Given the description of an element on the screen output the (x, y) to click on. 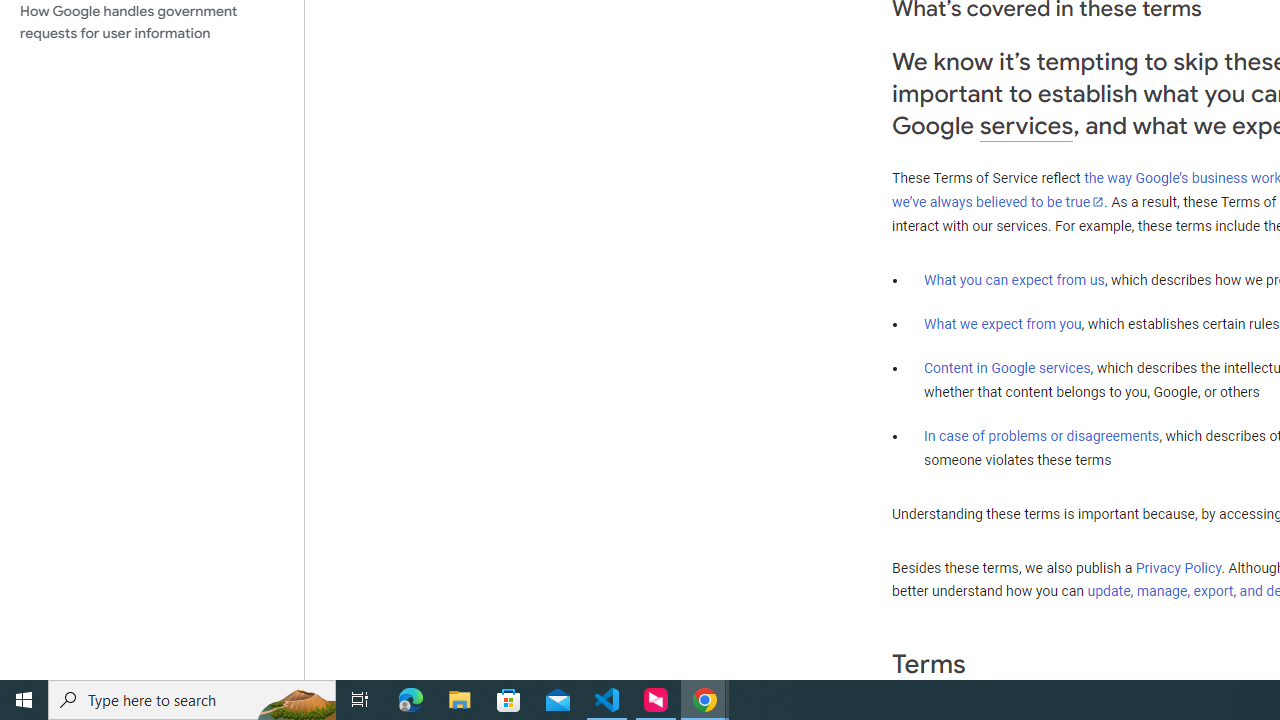
In case of problems or disagreements (1041, 435)
What we expect from you (1002, 323)
Content in Google services (1007, 368)
services (1026, 125)
What you can expect from us (1014, 279)
